Given the description of an element on the screen output the (x, y) to click on. 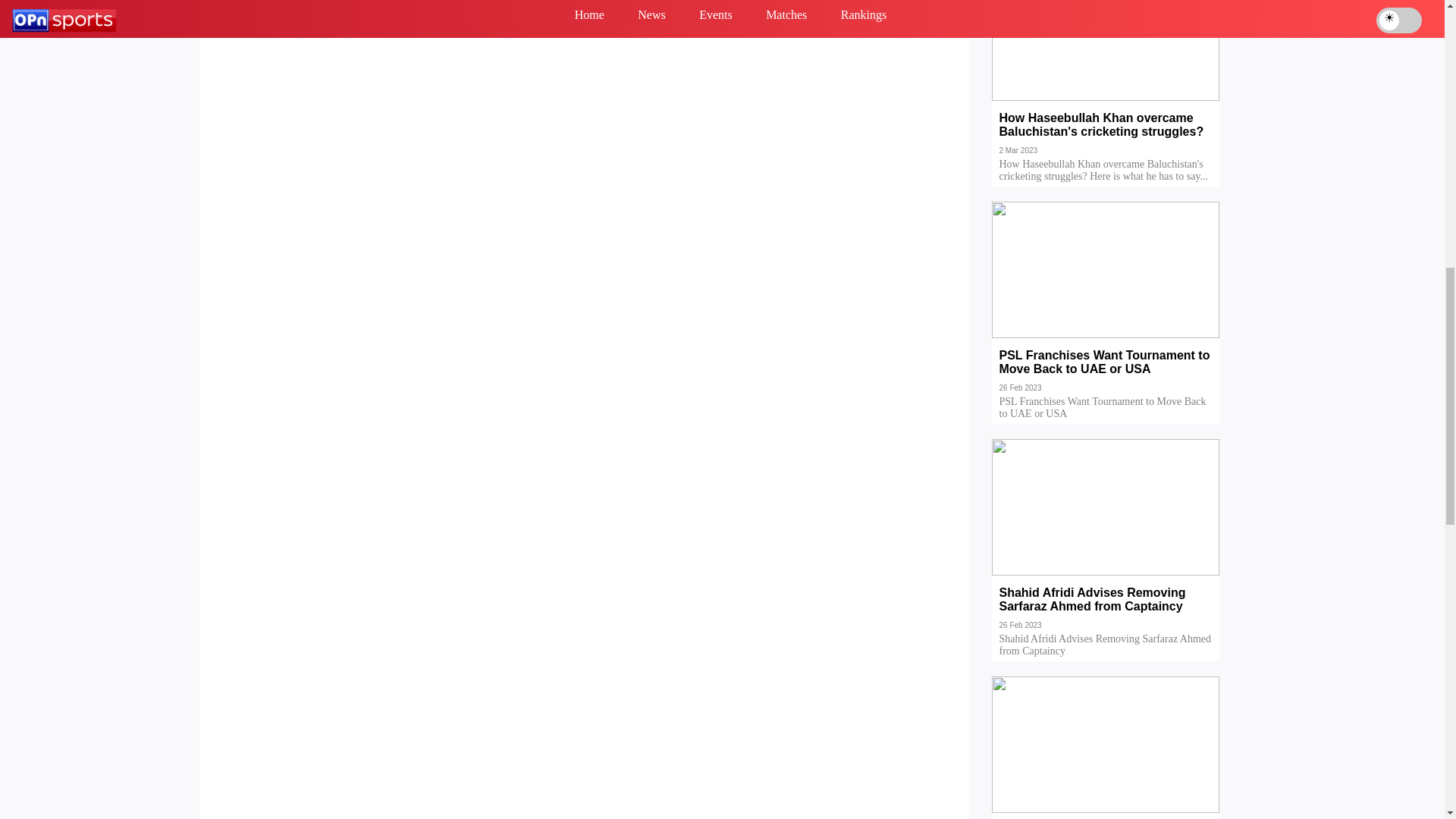
Shahid Afridi Advises Removing Sarfaraz Ahmed from Captaincy (1105, 610)
PSL Franchises Want Tournament to Move Back to UAE or USA (1105, 372)
